Given the description of an element on the screen output the (x, y) to click on. 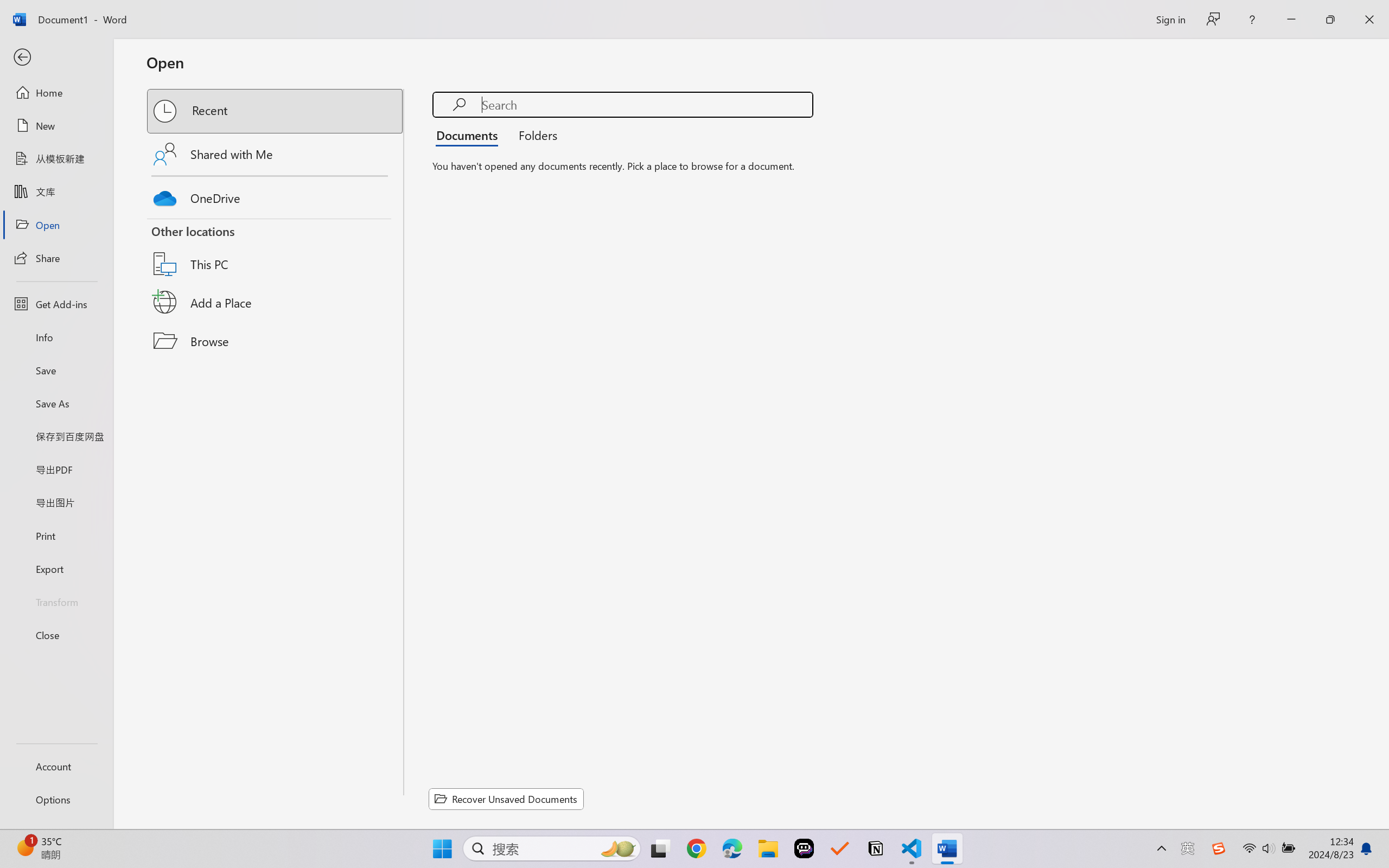
Save As (56, 403)
Back (56, 57)
Documents (469, 134)
Browse (275, 340)
Transform (56, 601)
Print (56, 535)
